Given the description of an element on the screen output the (x, y) to click on. 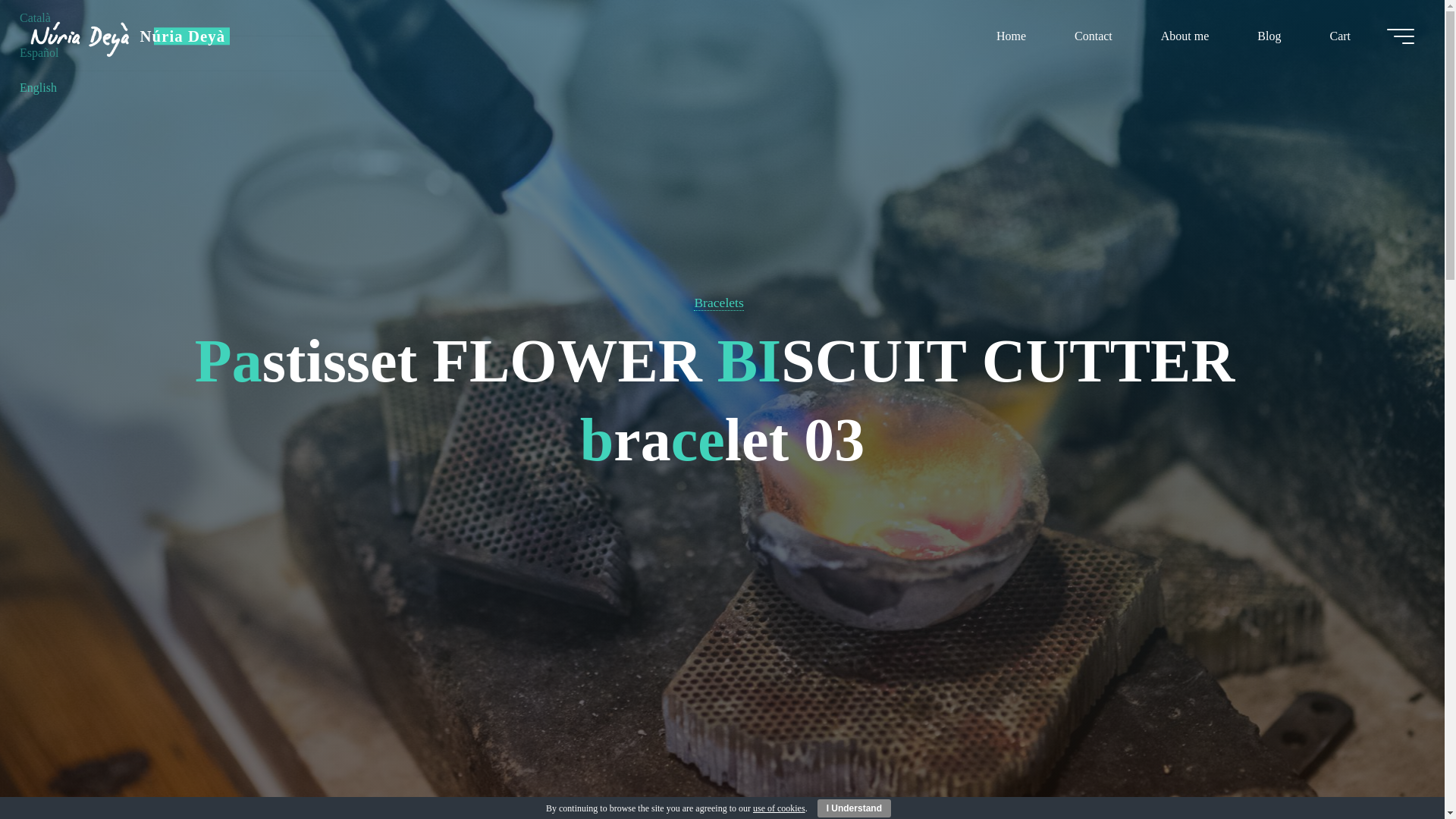
Cart (1339, 35)
Bracelets (718, 302)
English (38, 87)
Home (1010, 35)
Handmade jewelery (182, 36)
Contact (1093, 35)
Blog (1268, 35)
Read more (721, 724)
About me (1185, 35)
